Given the description of an element on the screen output the (x, y) to click on. 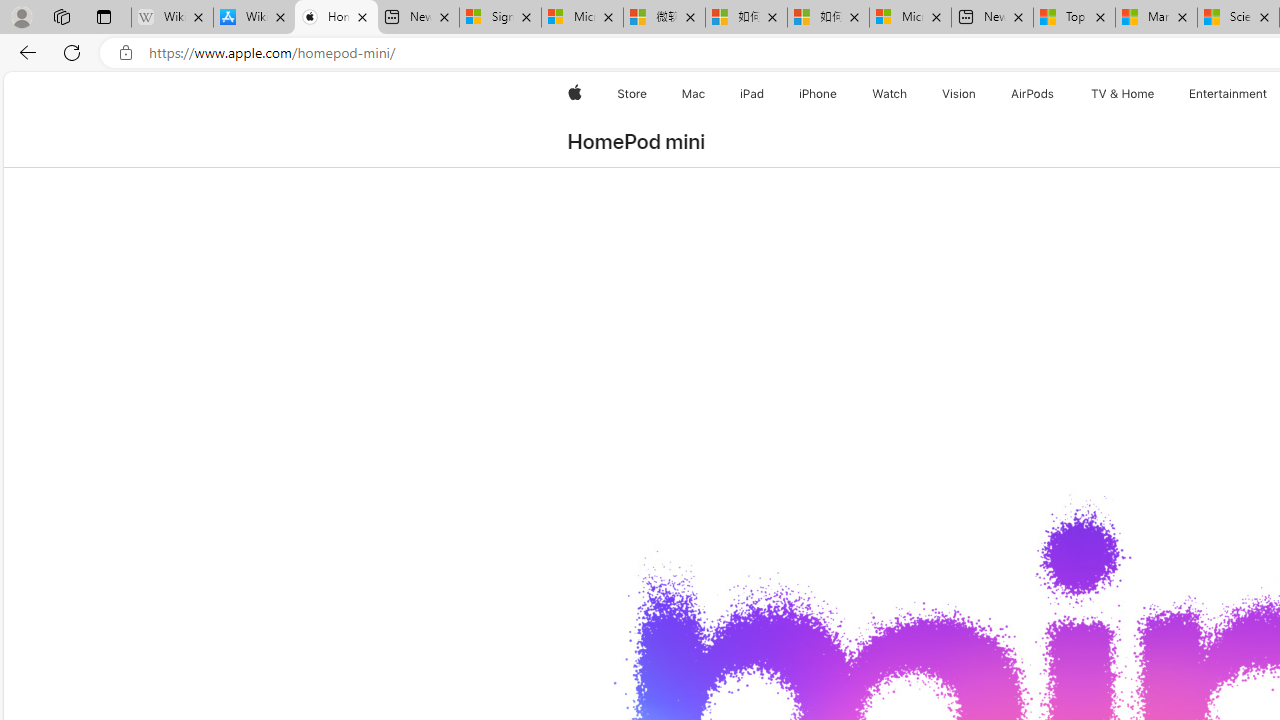
Vision menu (980, 93)
Mac (692, 93)
TV & Home (1122, 93)
Store menu (649, 93)
iPhone menu (840, 93)
Mac menu (708, 93)
